Given the description of an element on the screen output the (x, y) to click on. 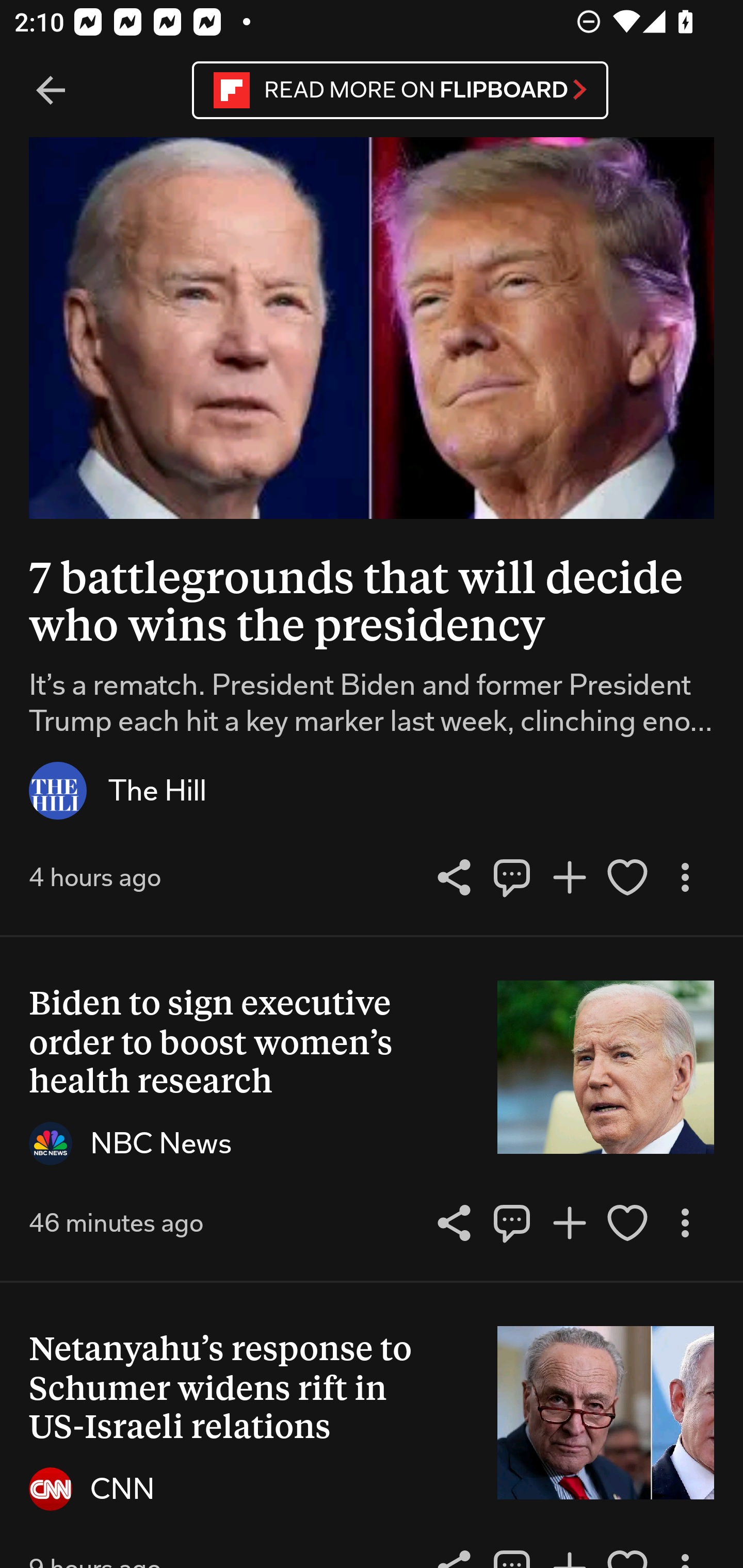
Back (50, 90)
READ MORE ON FLIPBOARD (399, 90)
Share (453, 877)
Share (511, 877)
Flip into Magazine (569, 877)
Like (627, 877)
Options (685, 877)
Share (453, 1222)
Share (511, 1222)
Flip into Magazine (569, 1222)
Like (627, 1222)
Options (685, 1222)
